Given the description of an element on the screen output the (x, y) to click on. 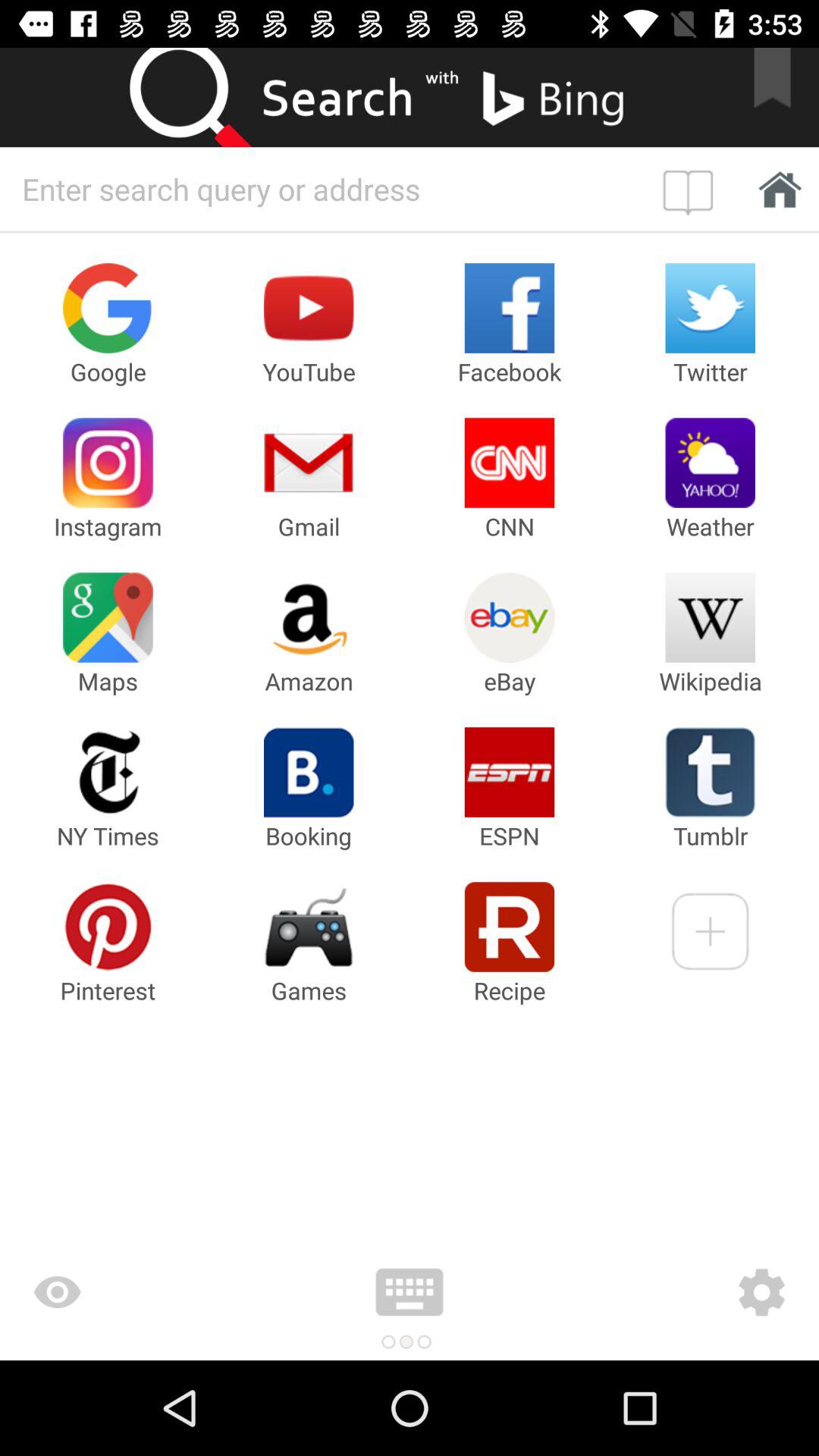
open icon below the pinterest item (146, 1292)
